Given the description of an element on the screen output the (x, y) to click on. 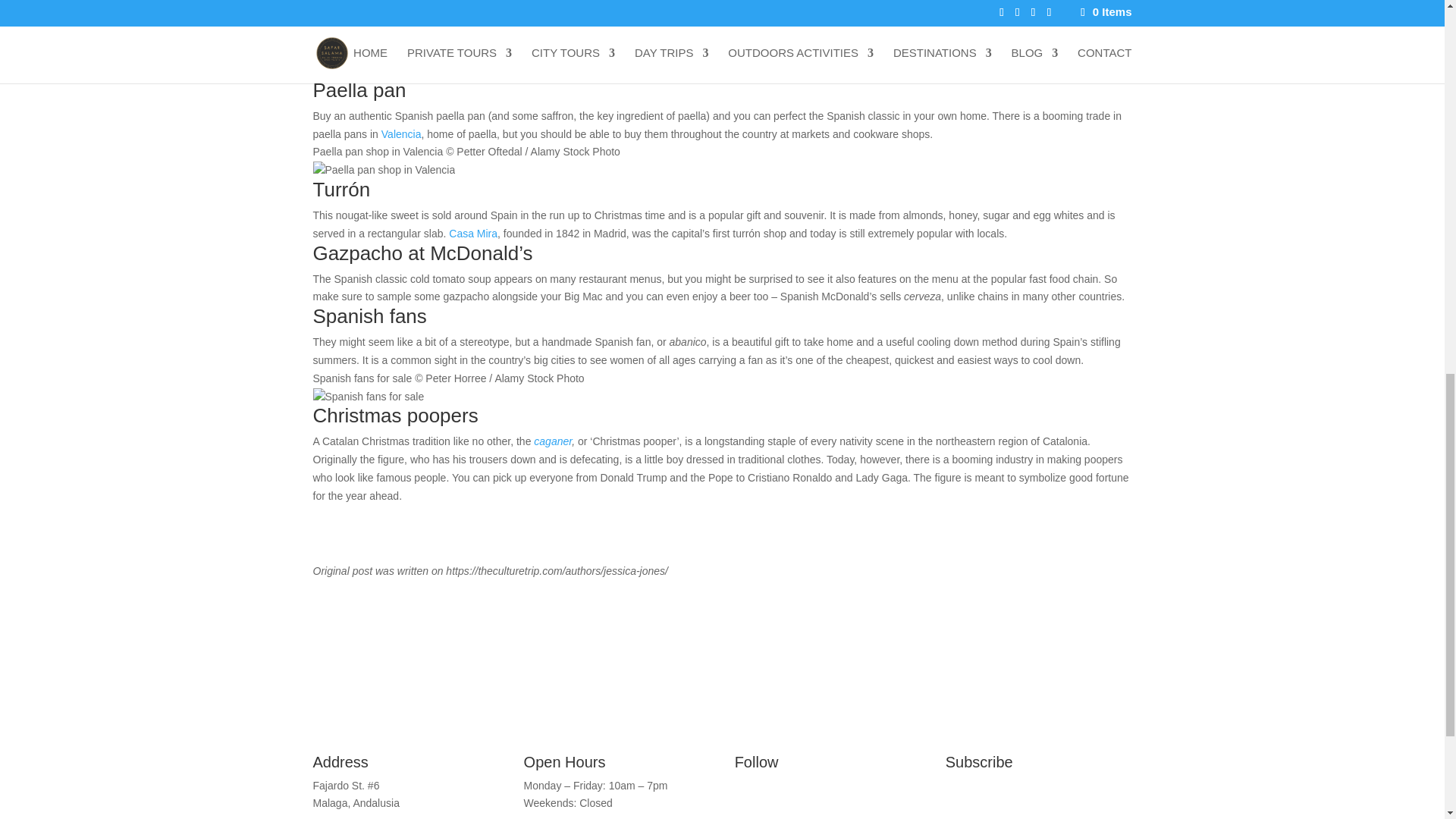
Follow on Instagram (777, 801)
Follow on Facebook (746, 801)
Follow on Twitter (806, 801)
